Given the description of an element on the screen output the (x, y) to click on. 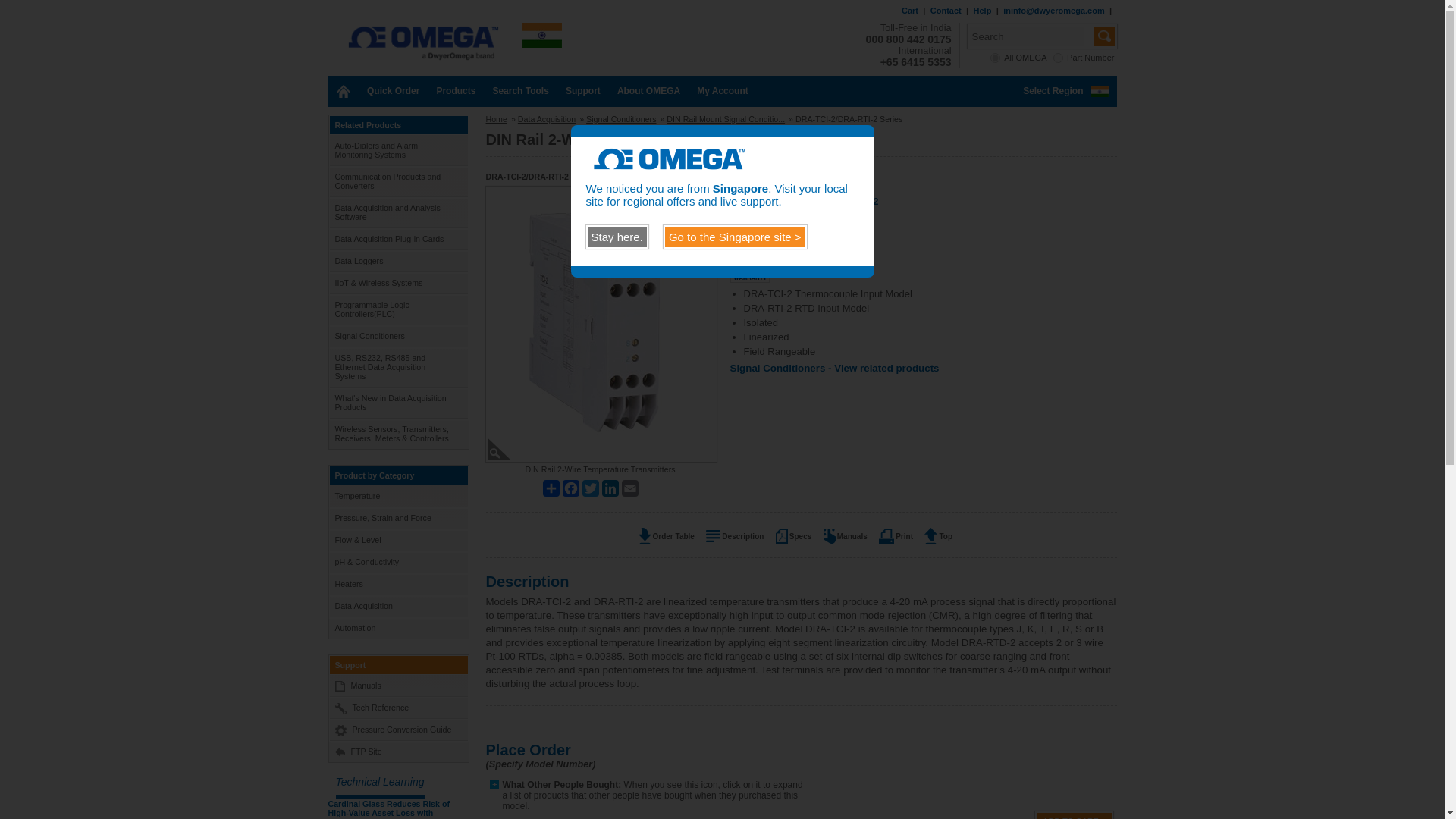
USB, RS232, RS485 and Ethernet Data Acquisition Systems (398, 366)
Search Tools (519, 91)
Data Loggers (398, 260)
Data Acquisition and Analysis Software (398, 212)
Auto-Dialers and Alarm Monitoring Systems (398, 150)
Help (982, 10)
Signal Conditioners (398, 335)
Communication Products and Converters (398, 181)
Products (455, 91)
Cart (909, 10)
Support (582, 91)
Contact (945, 10)
allomega (995, 58)
What's New in Data Acquisition Products (398, 402)
Quick Order (393, 91)
